Given the description of an element on the screen output the (x, y) to click on. 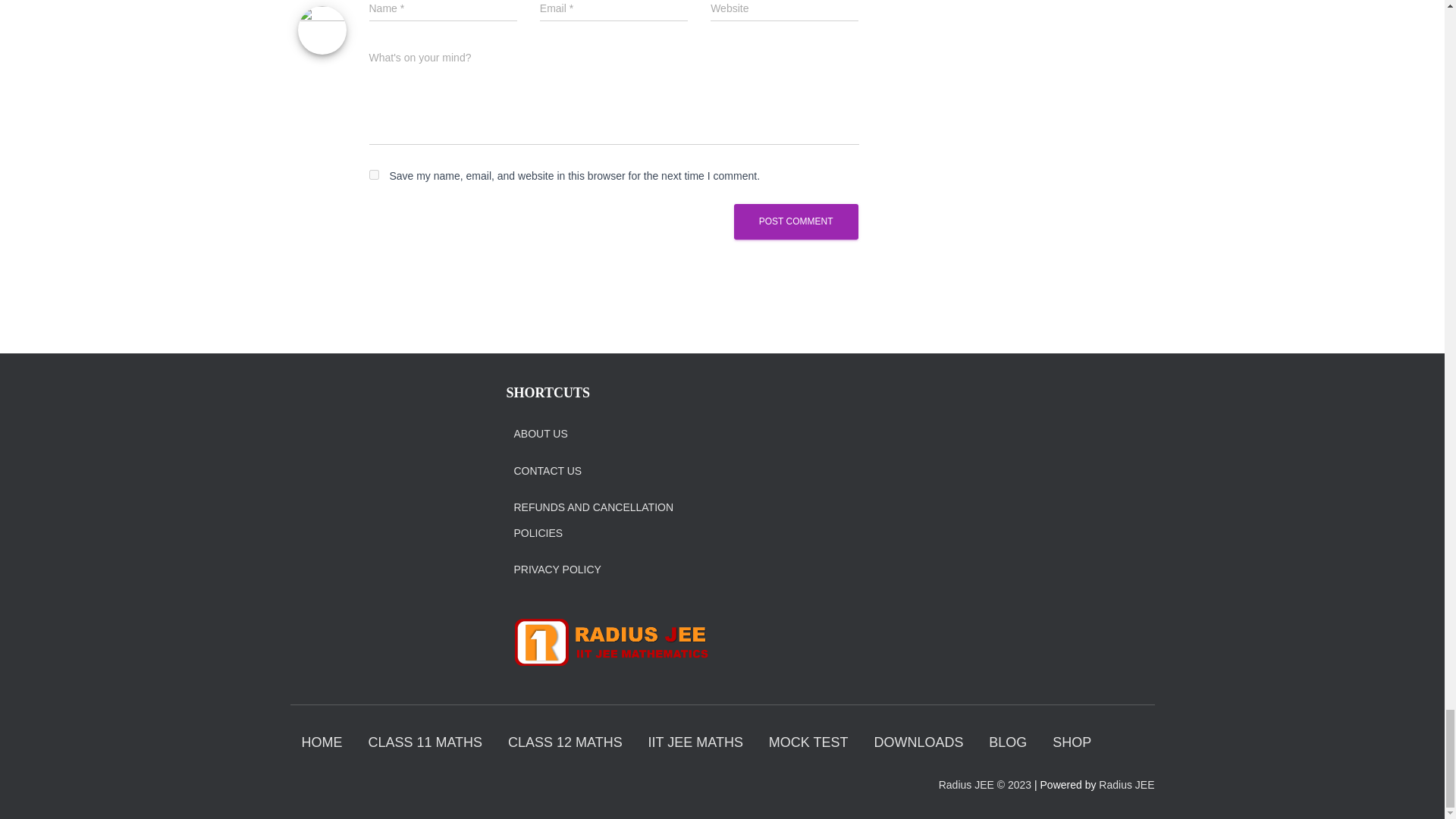
yes (373, 174)
Post Comment (796, 221)
